Given the description of an element on the screen output the (x, y) to click on. 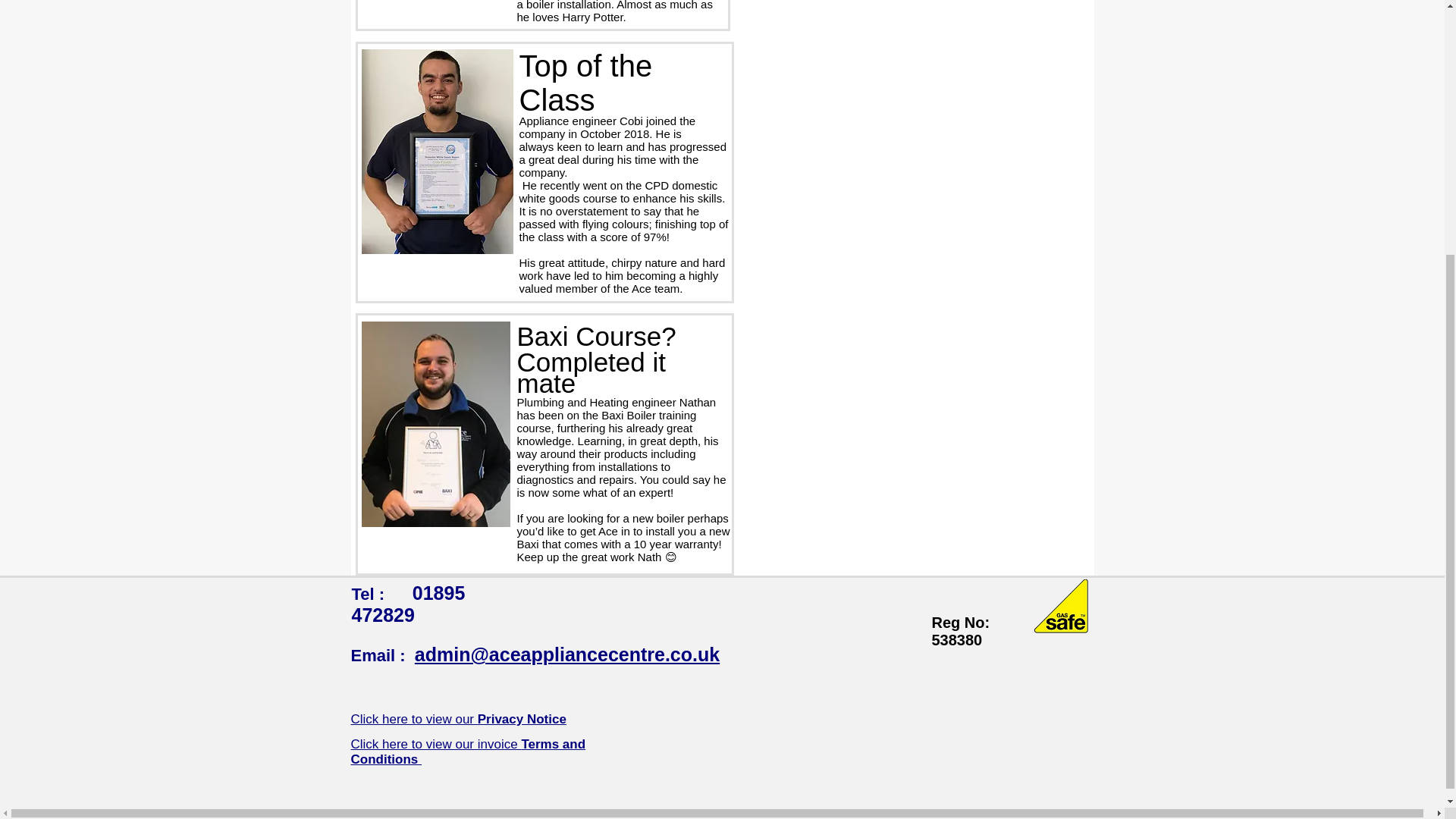
Click here to view our invoice Terms and Conditions  (467, 751)
Click here to view our Privacy Notice (458, 718)
